Given the description of an element on the screen output the (x, y) to click on. 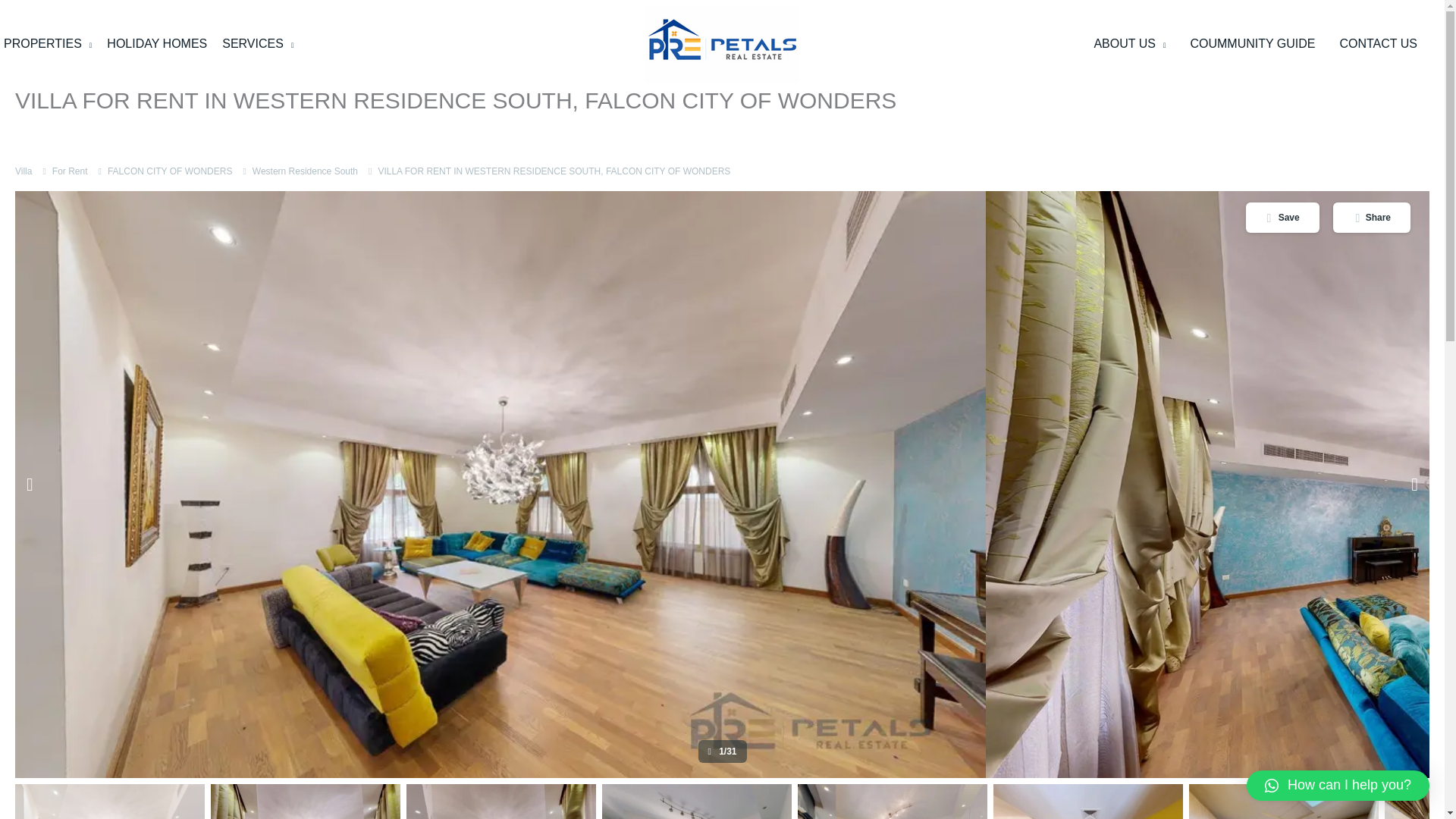
COUMMUNITY GUIDE (1251, 43)
ABOUT US (1129, 43)
Villa (23, 171)
For Rent (69, 171)
Western Residence South (304, 171)
PROPERTIES (49, 43)
View all posts by petalsrealestate (76, 130)
SERVICES (257, 43)
CONTACT US (1377, 43)
HOLIDAY HOMES (156, 43)
petalsrealestate (76, 130)
FALCON CITY OF WONDERS (169, 171)
